Given the description of an element on the screen output the (x, y) to click on. 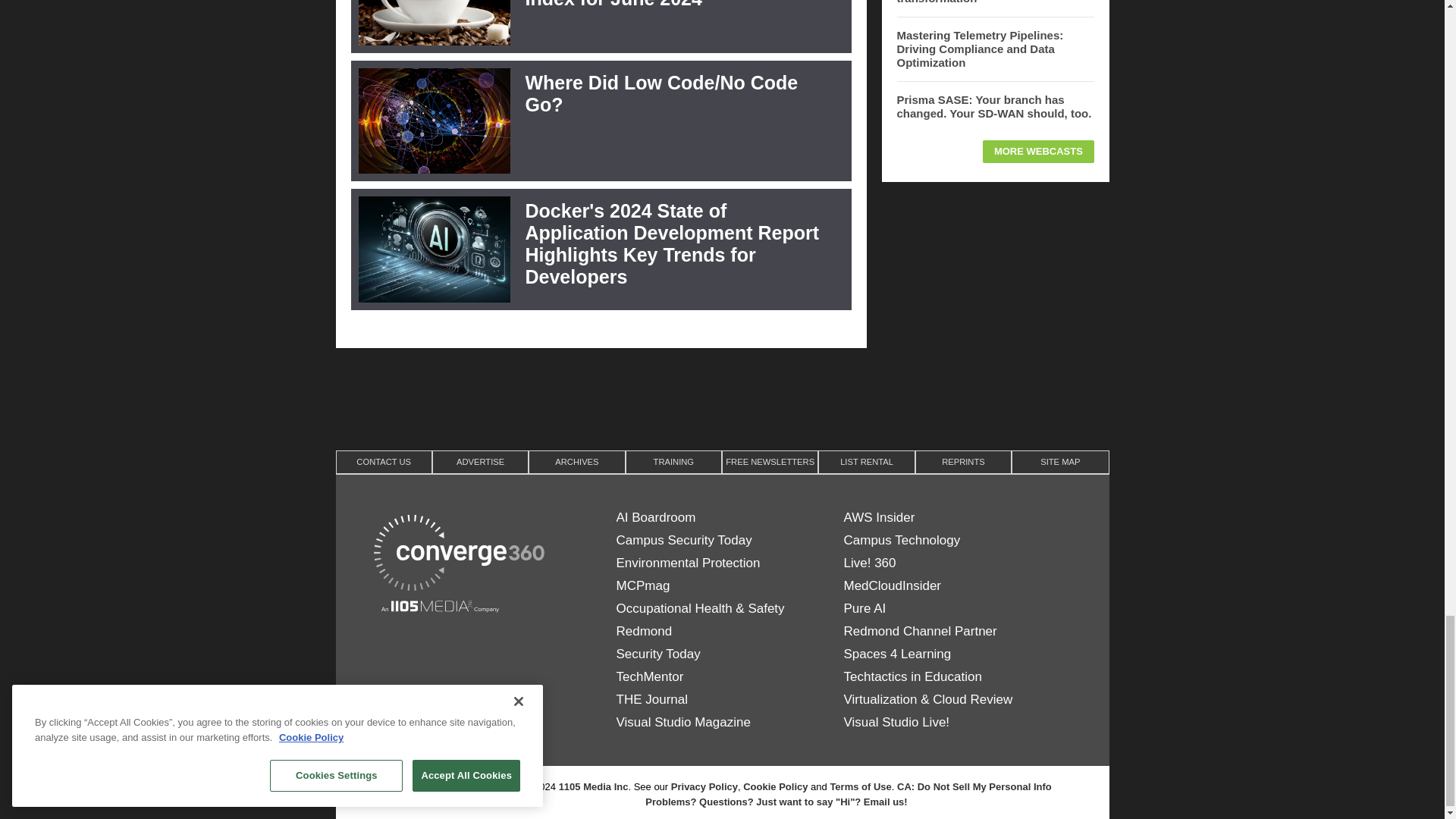
3rd party ad content (721, 397)
